Given the description of an element on the screen output the (x, y) to click on. 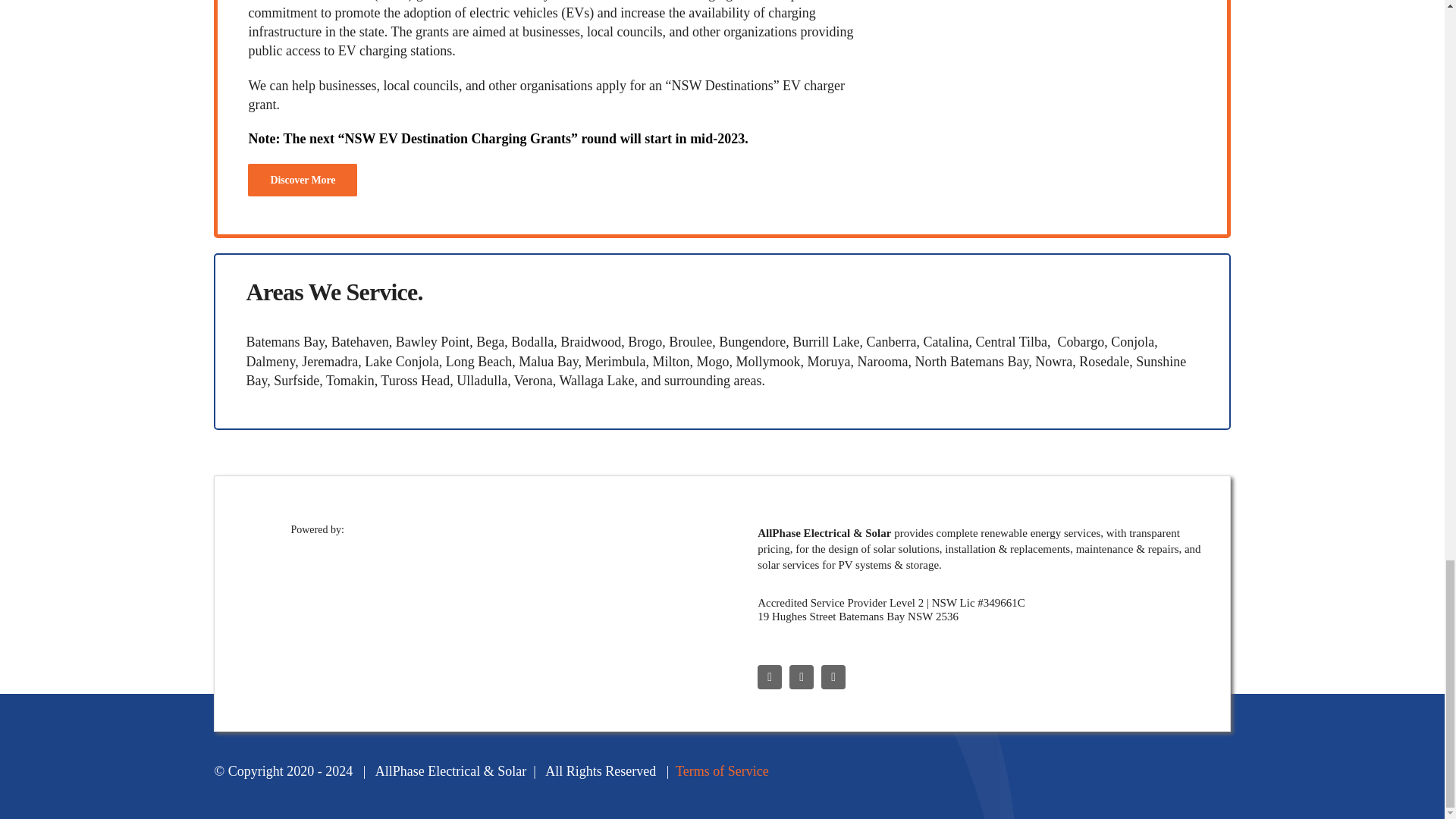
allphasedfooter (495, 587)
tesla-roadster (1050, 67)
Discover More (301, 179)
